Given the description of an element on the screen output the (x, y) to click on. 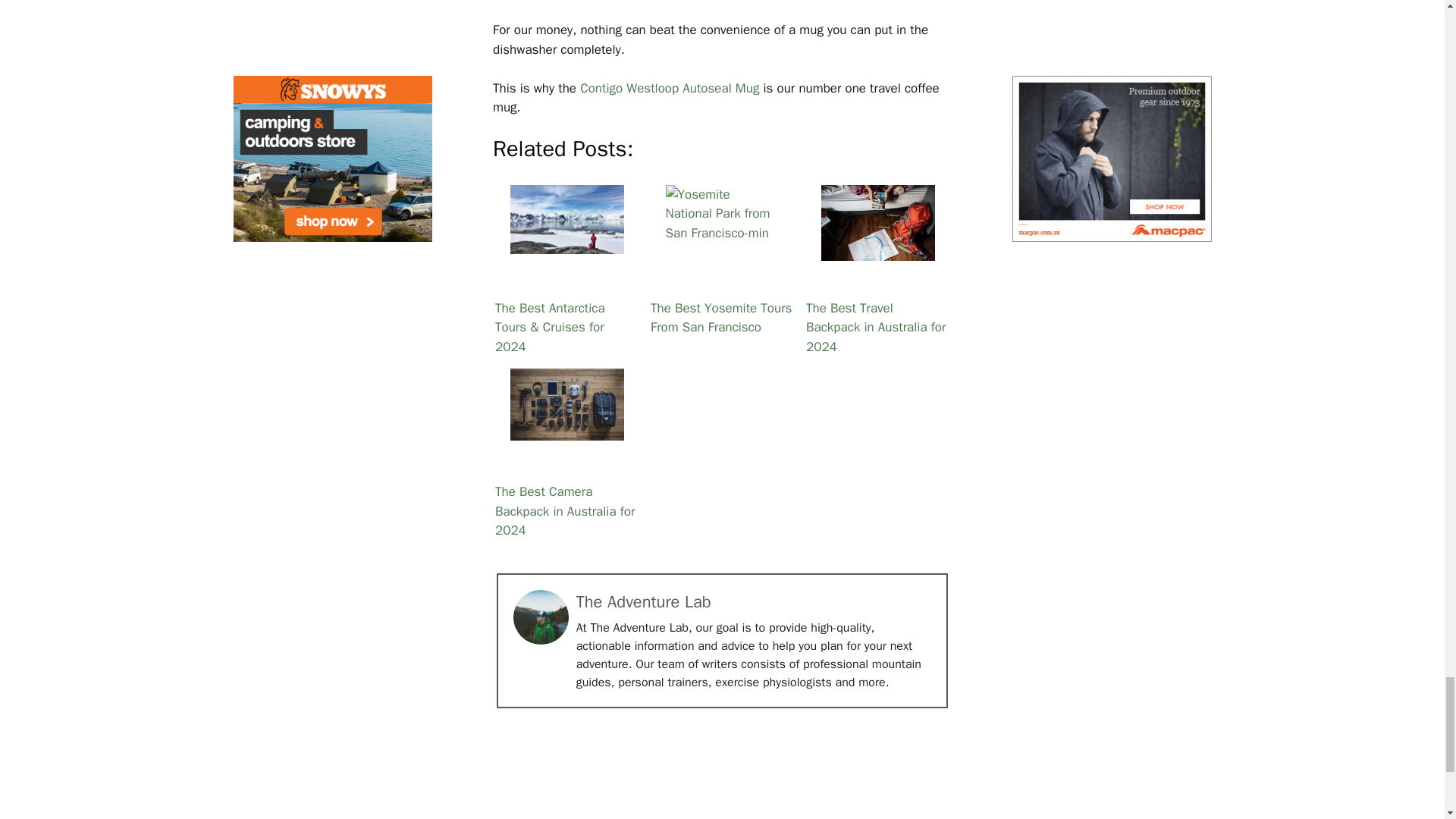
The Adventure Lab (643, 601)
The Best Travel Backpack in Australia for 2024 (877, 223)
The Best Camera Backpack in Australia for 2024 (566, 404)
The Best Yosemite Tours From San Francisco (721, 223)
Contigo Westloop Autoseal Mug (668, 88)
